Given the description of an element on the screen output the (x, y) to click on. 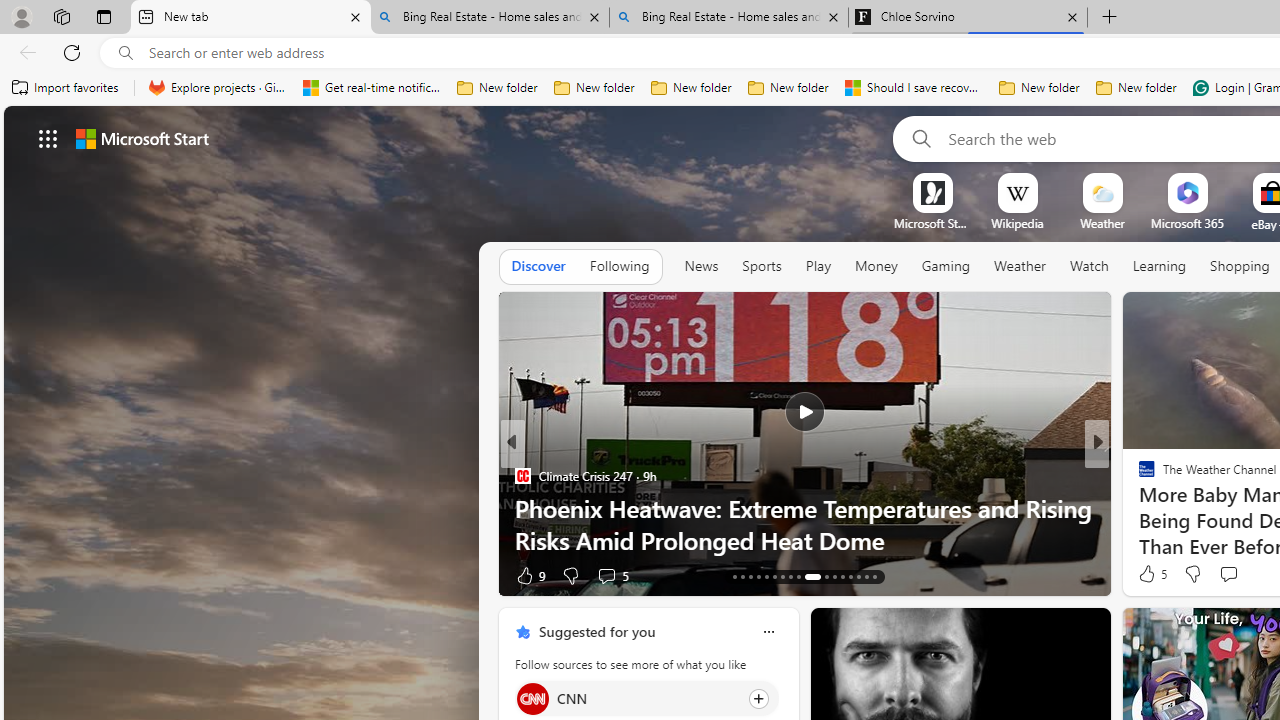
AutomationID: tab-25 (842, 576)
AutomationID: tab-20 (789, 576)
Should I save recovered Word documents? - Microsoft Support (913, 88)
